Given the description of an element on the screen output the (x, y) to click on. 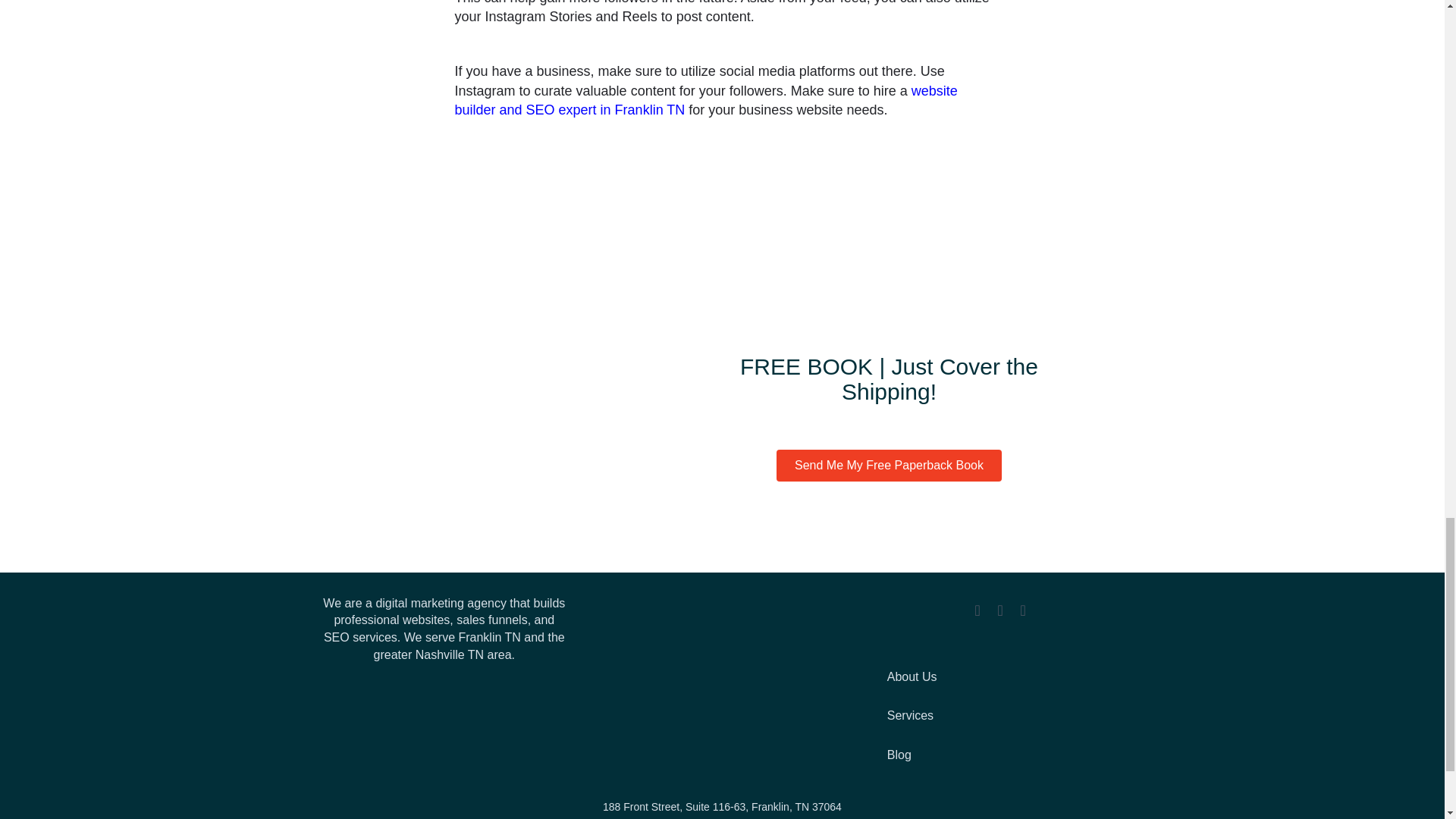
Services (1000, 715)
website builder and SEO expert in Franklin TN (706, 100)
Nashville TN (448, 654)
About Us (1000, 677)
APlowercasewhite (722, 685)
Blog (1000, 755)
Send Me My Free Paperback Book (888, 465)
Franklin TN (488, 636)
